Given the description of an element on the screen output the (x, y) to click on. 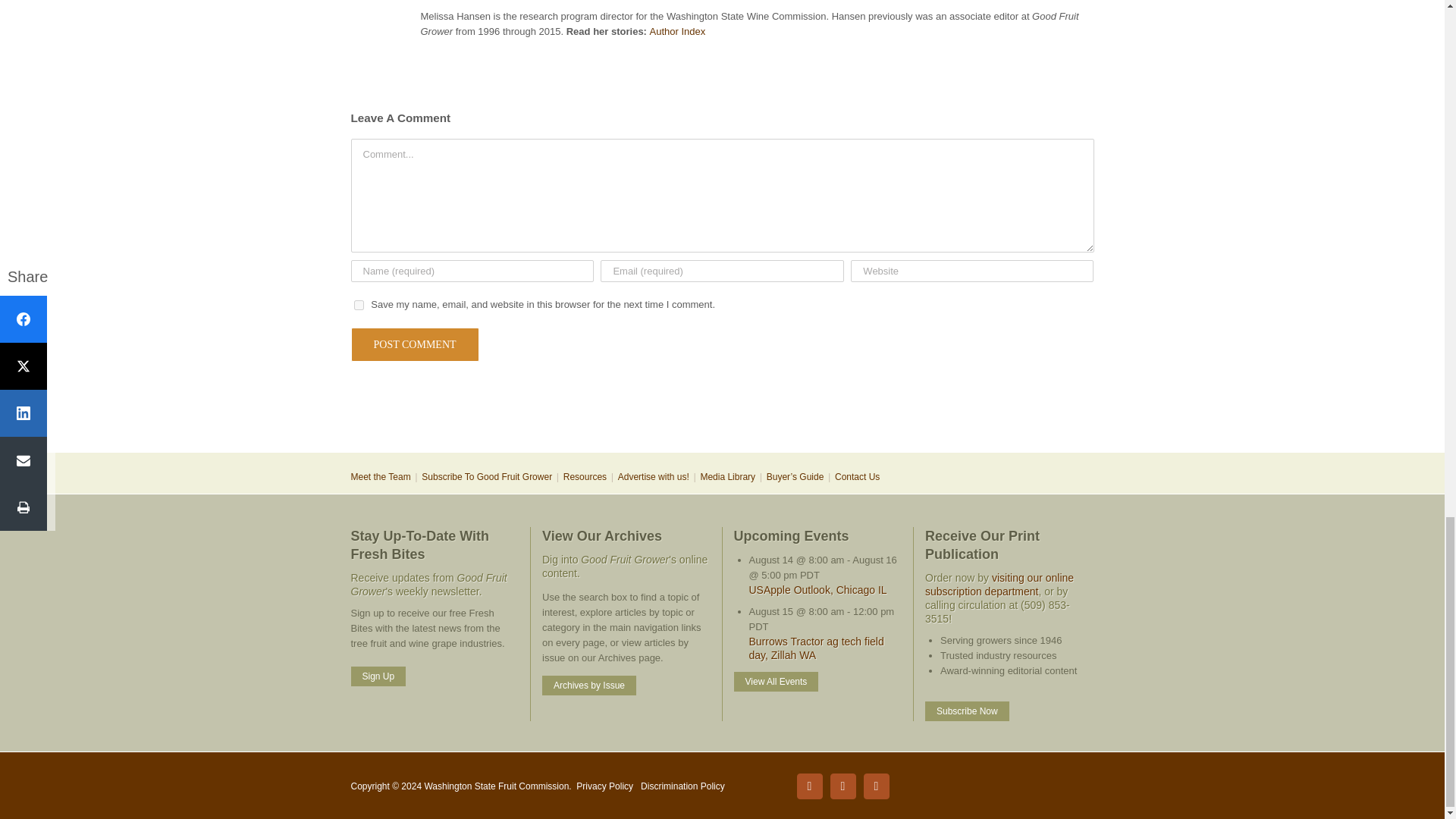
LinkedIn (842, 786)
3rd party ad content (721, 402)
yes (357, 305)
Facebook (809, 786)
YouTube (875, 786)
Post Comment (414, 344)
